Given the description of an element on the screen output the (x, y) to click on. 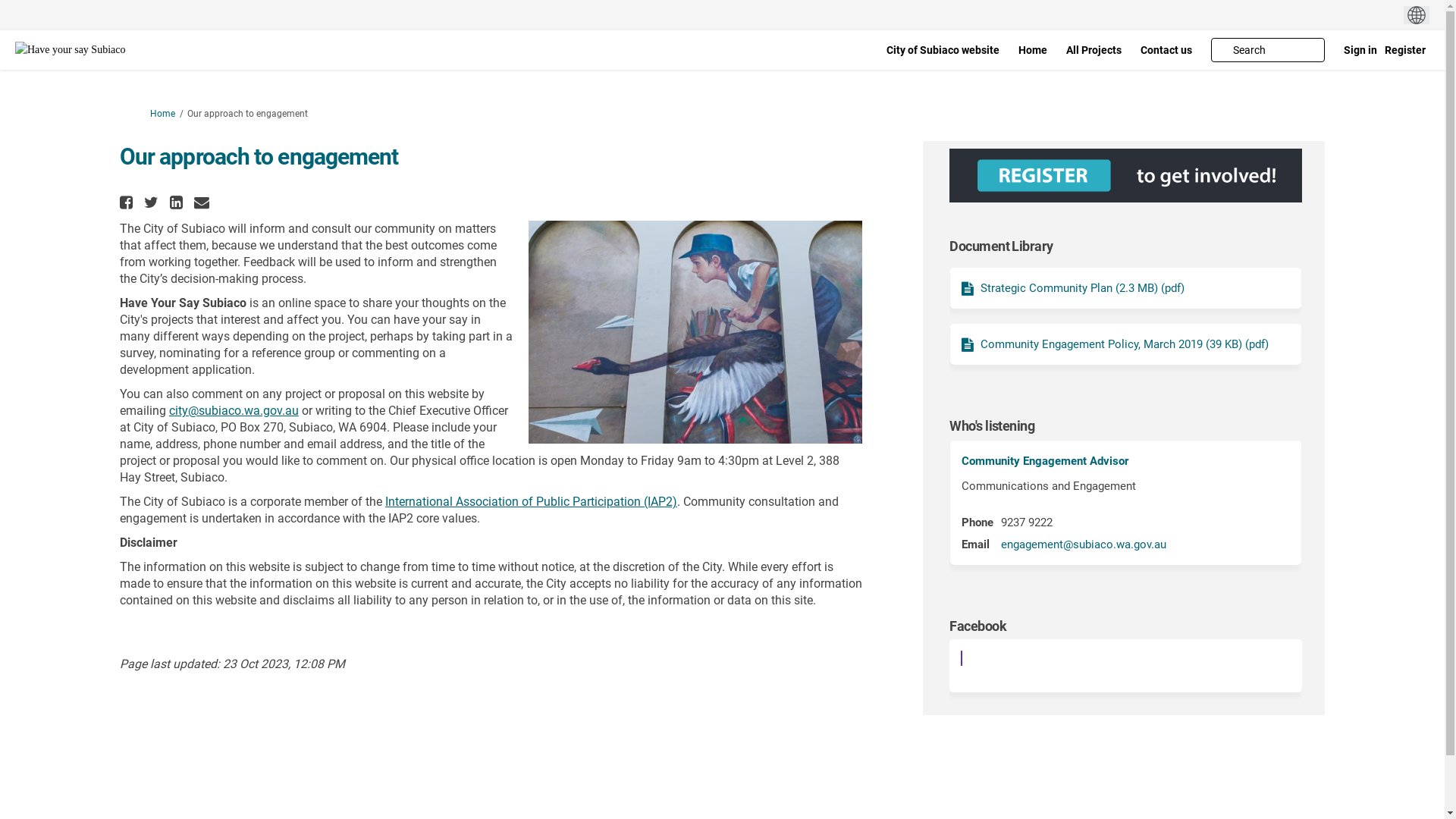
All Projects Element type: text (1093, 49)
Register Element type: text (1404, 49)
Home Element type: text (162, 113)
City of Subiaco website Element type: text (942, 49)
city@subiaco.wa.gov.au
(External link) Element type: text (233, 410)
Community Engagement Advisor Element type: text (1044, 460)
Strategic Community Plan (2.3 MB) (pdf) Element type: text (1072, 287)
Home Element type: text (1032, 49)
Sign in Element type: text (1359, 49)
engagement@subiaco.wa.gov.au
(External link) Element type: text (1083, 544)
Community Engagement Policy, March 2019 (39 KB) (pdf) Element type: text (1114, 344)
Contact us Element type: text (1165, 49)
